Given the description of an element on the screen output the (x, y) to click on. 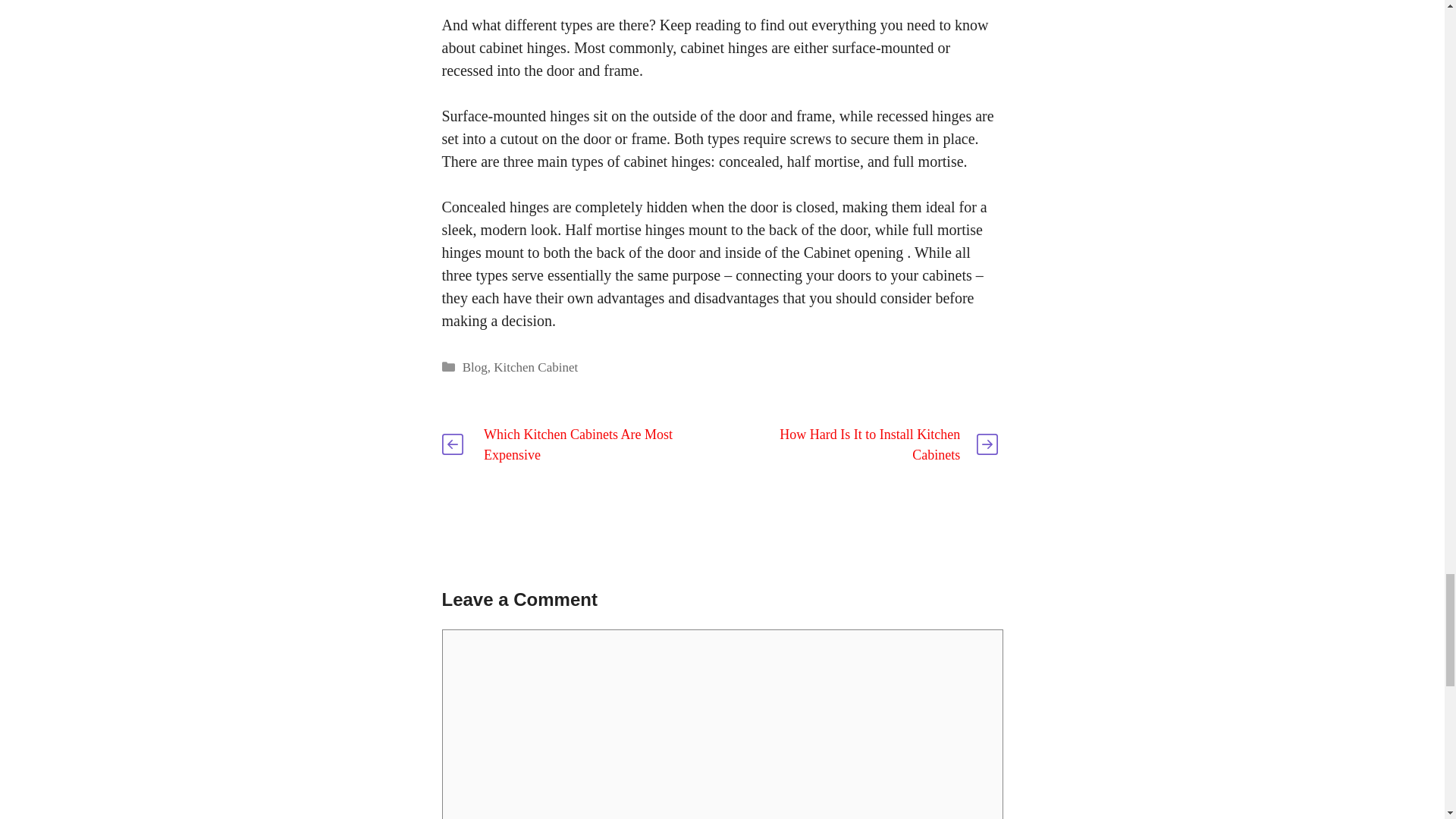
Blog (475, 367)
